Given the description of an element on the screen output the (x, y) to click on. 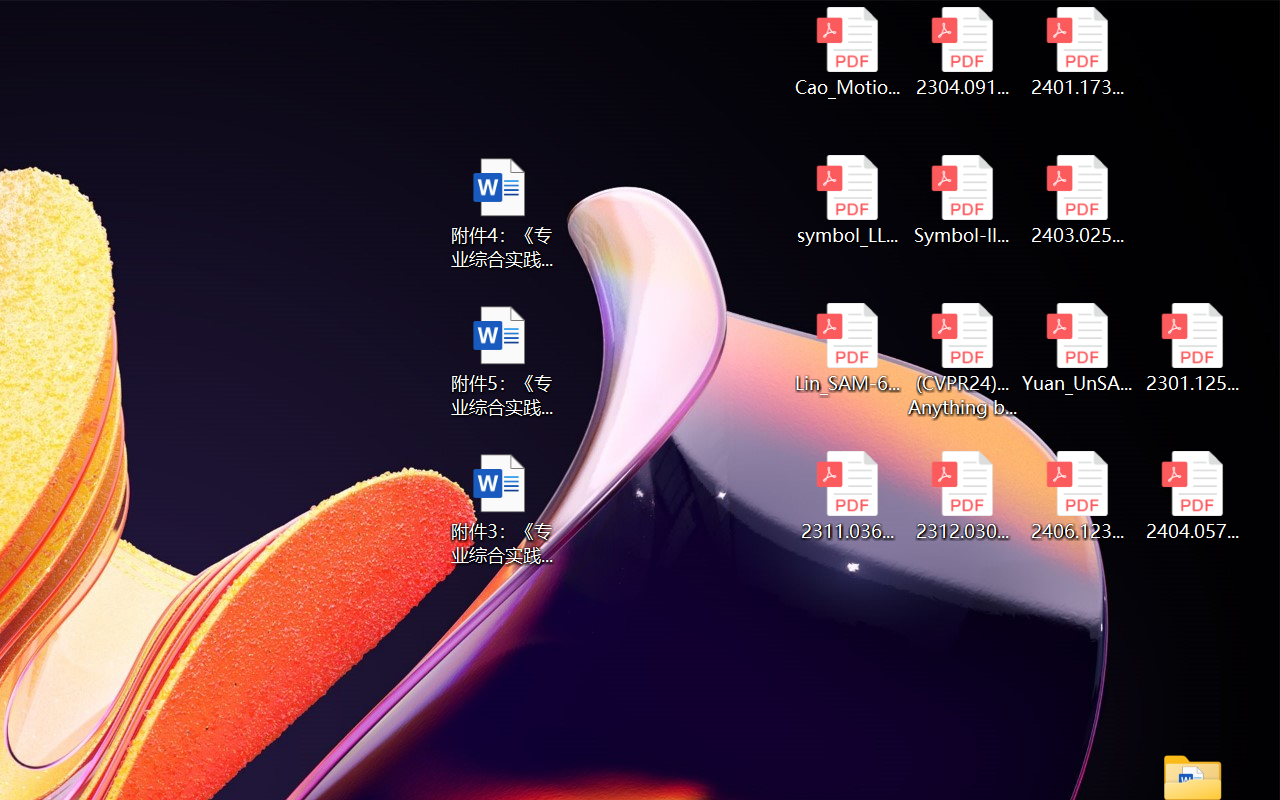
2406.12373v2.pdf (1077, 496)
2312.03032v2.pdf (962, 496)
2304.09121v3.pdf (962, 52)
2301.12597v3.pdf (1192, 348)
2401.17399v1.pdf (1077, 52)
symbol_LLM.pdf (846, 200)
Symbol-llm-v2.pdf (962, 200)
2404.05719v1.pdf (1192, 496)
2311.03658v2.pdf (846, 496)
